Given the description of an element on the screen output the (x, y) to click on. 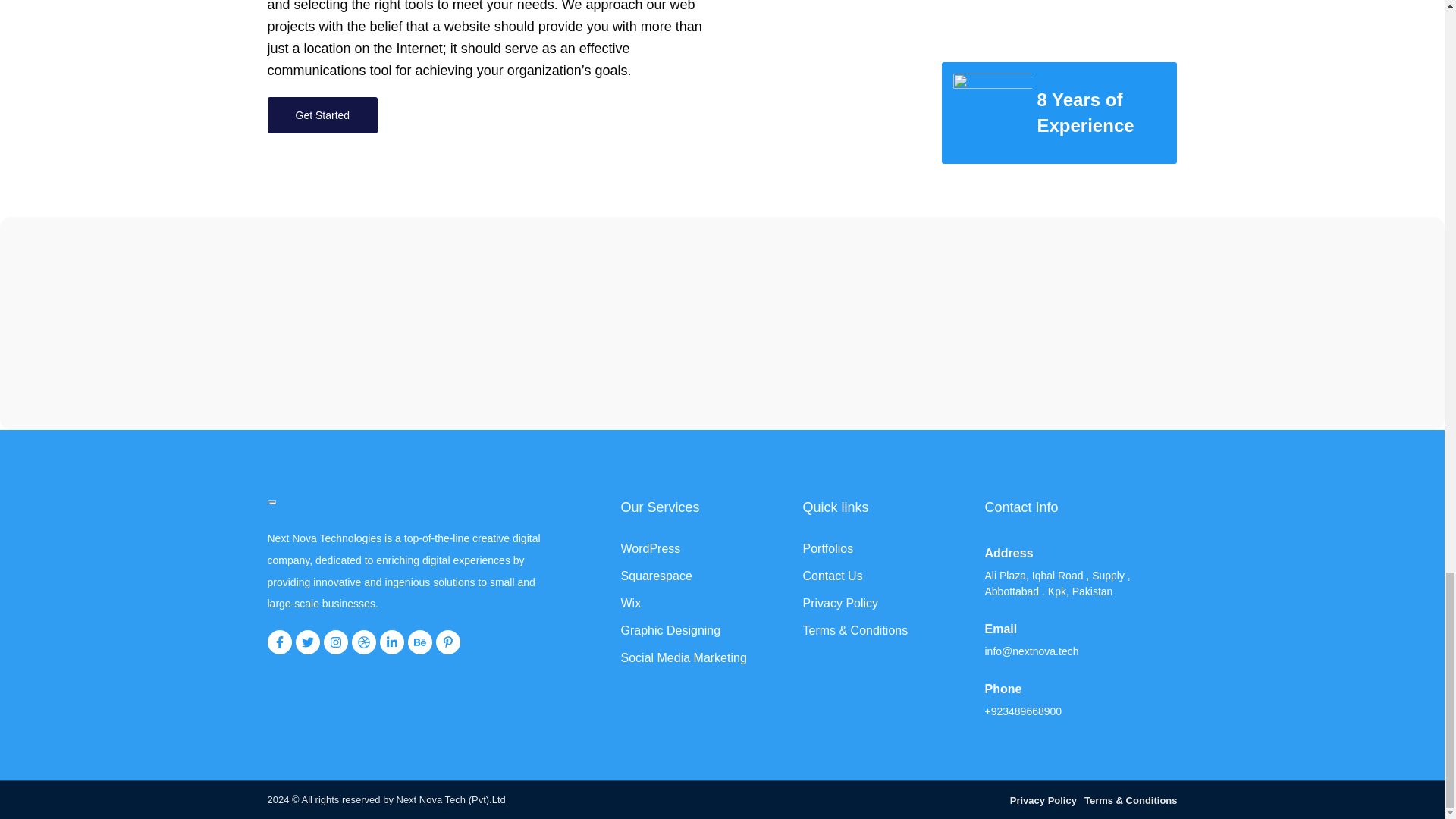
Get Started (321, 115)
